Given the description of an element on the screen output the (x, y) to click on. 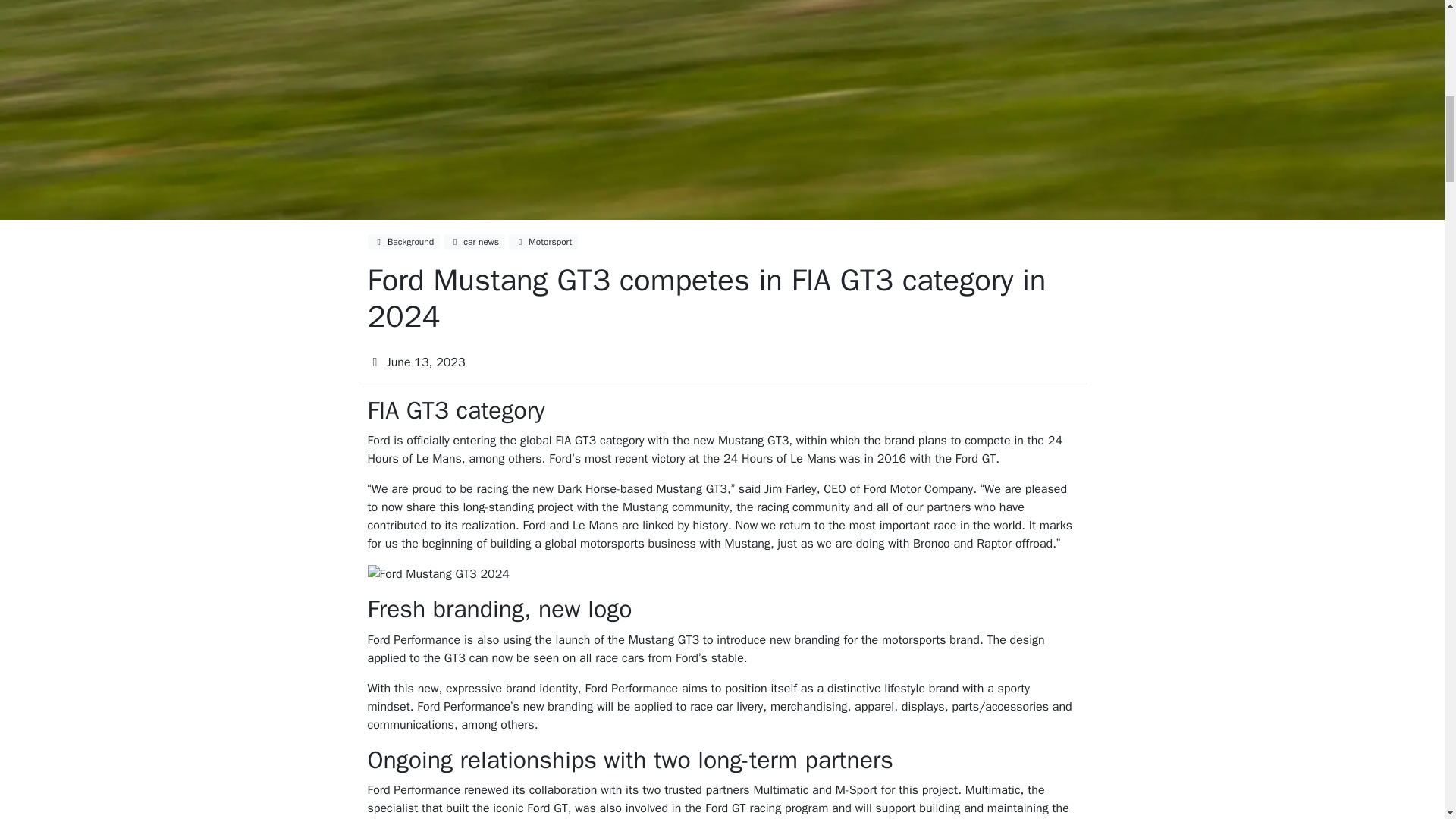
Motorsport (543, 241)
car news (474, 241)
Background (402, 241)
